Given the description of an element on the screen output the (x, y) to click on. 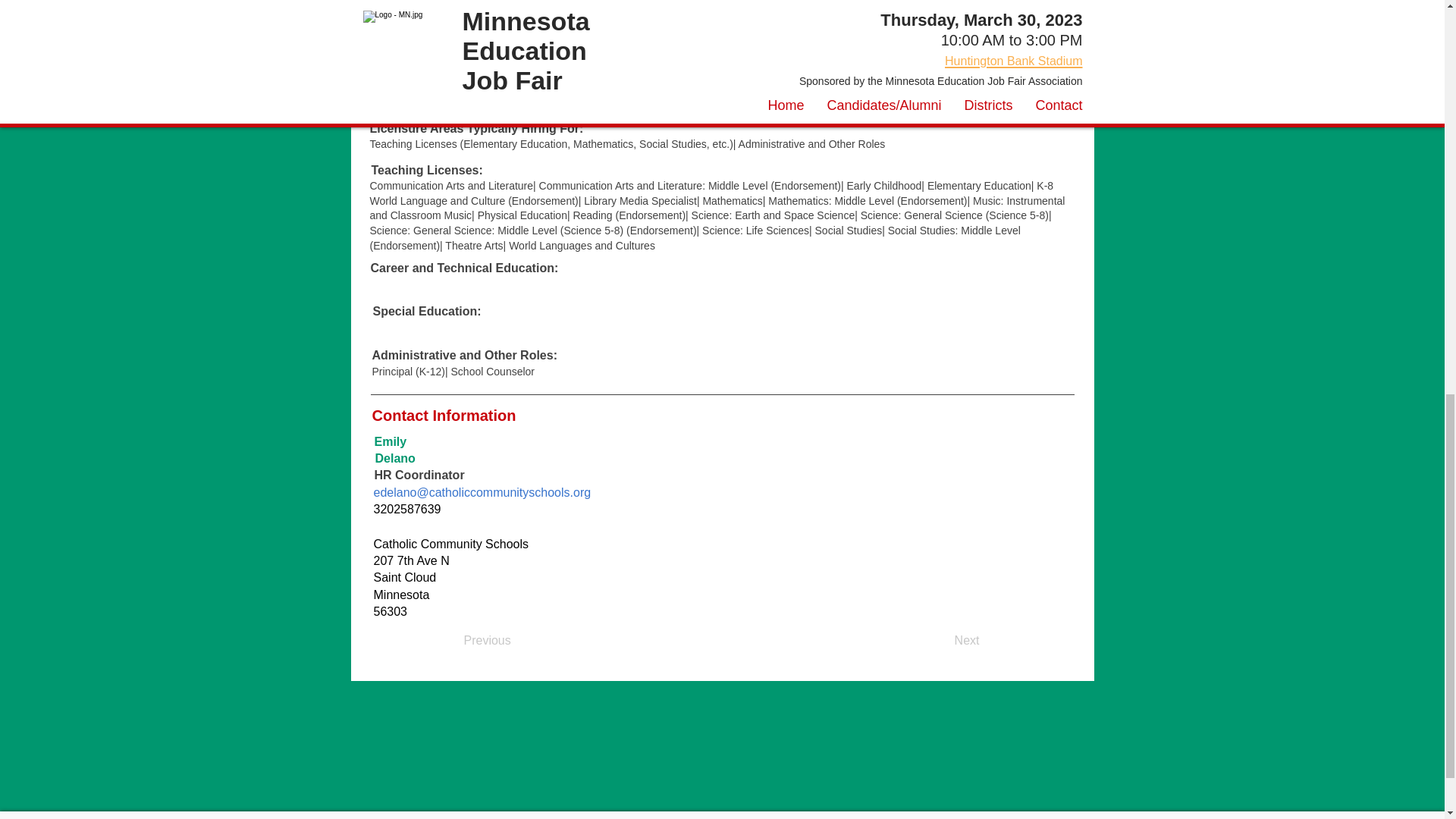
Next (941, 640)
Previous (514, 640)
